Given the description of an element on the screen output the (x, y) to click on. 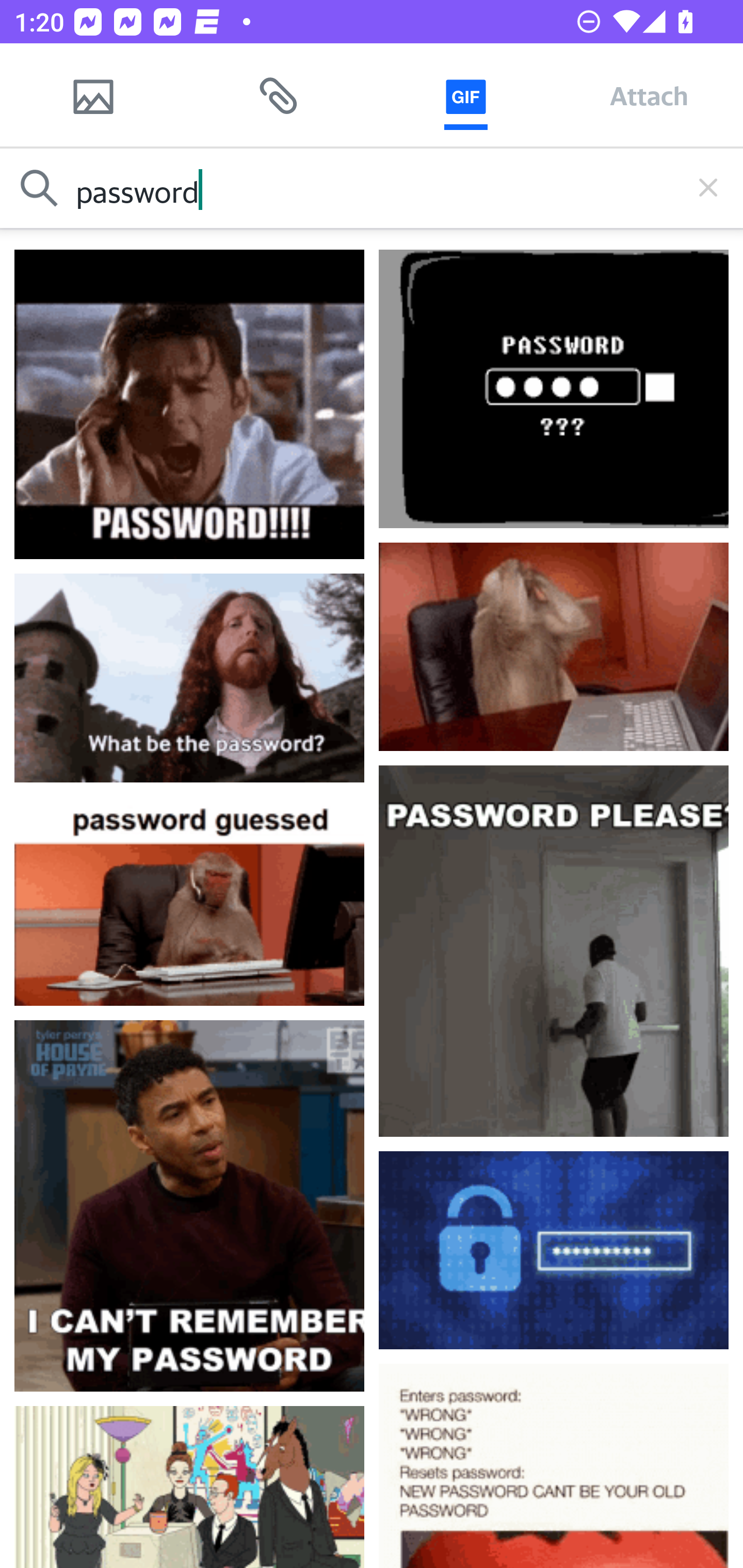
Camera photos (93, 95)
Recent attachments from mail (279, 95)
GIFs (465, 95)
Attach (649, 95)
password (371, 187)
